Given the description of an element on the screen output the (x, y) to click on. 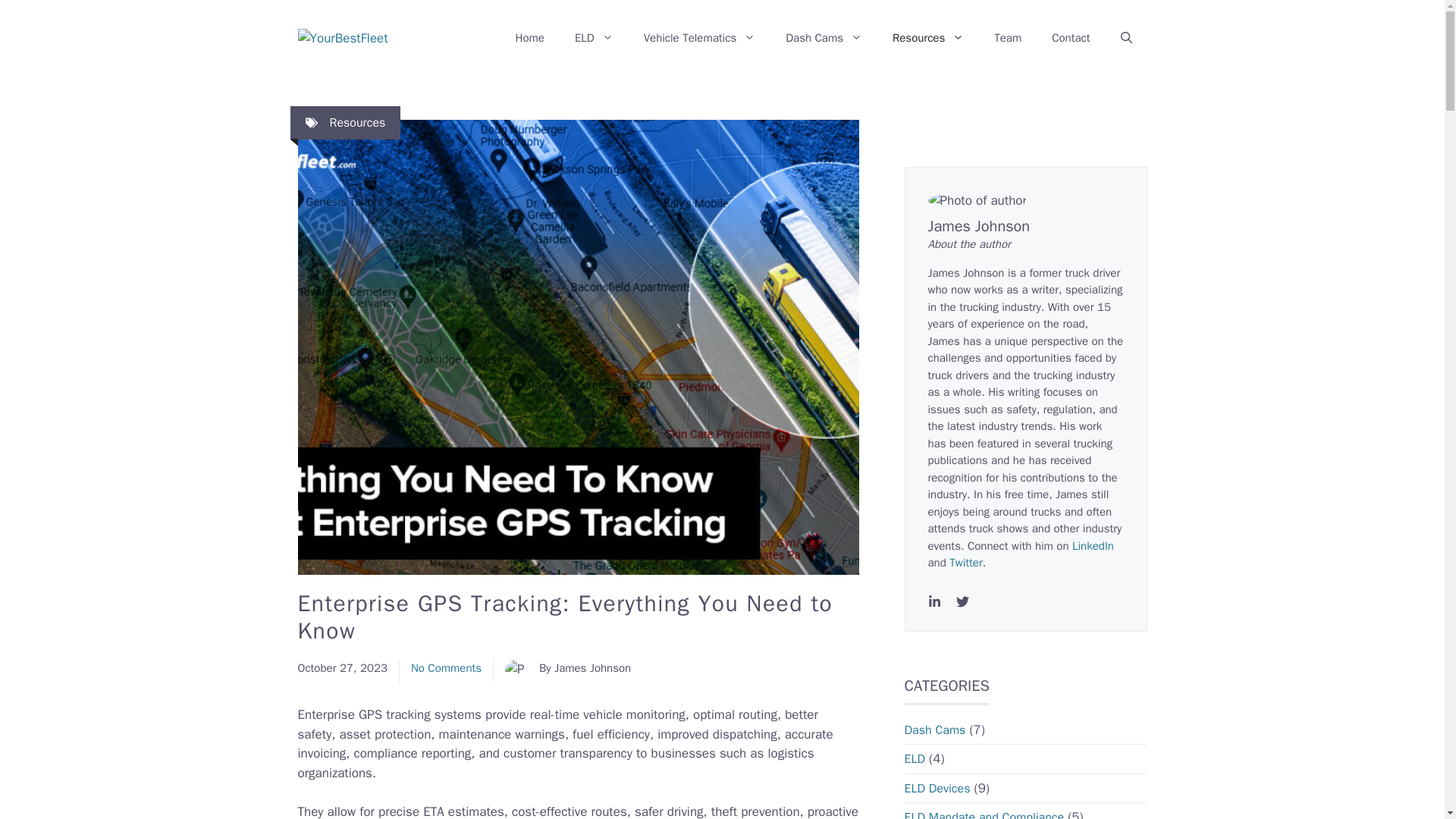
No Comments (445, 667)
Resources (357, 122)
Contact (1070, 37)
ELD (593, 37)
Team (1007, 37)
Dash Cams (823, 37)
Vehicle Telematics (699, 37)
Resources (927, 37)
Home (529, 37)
